Given the description of an element on the screen output the (x, y) to click on. 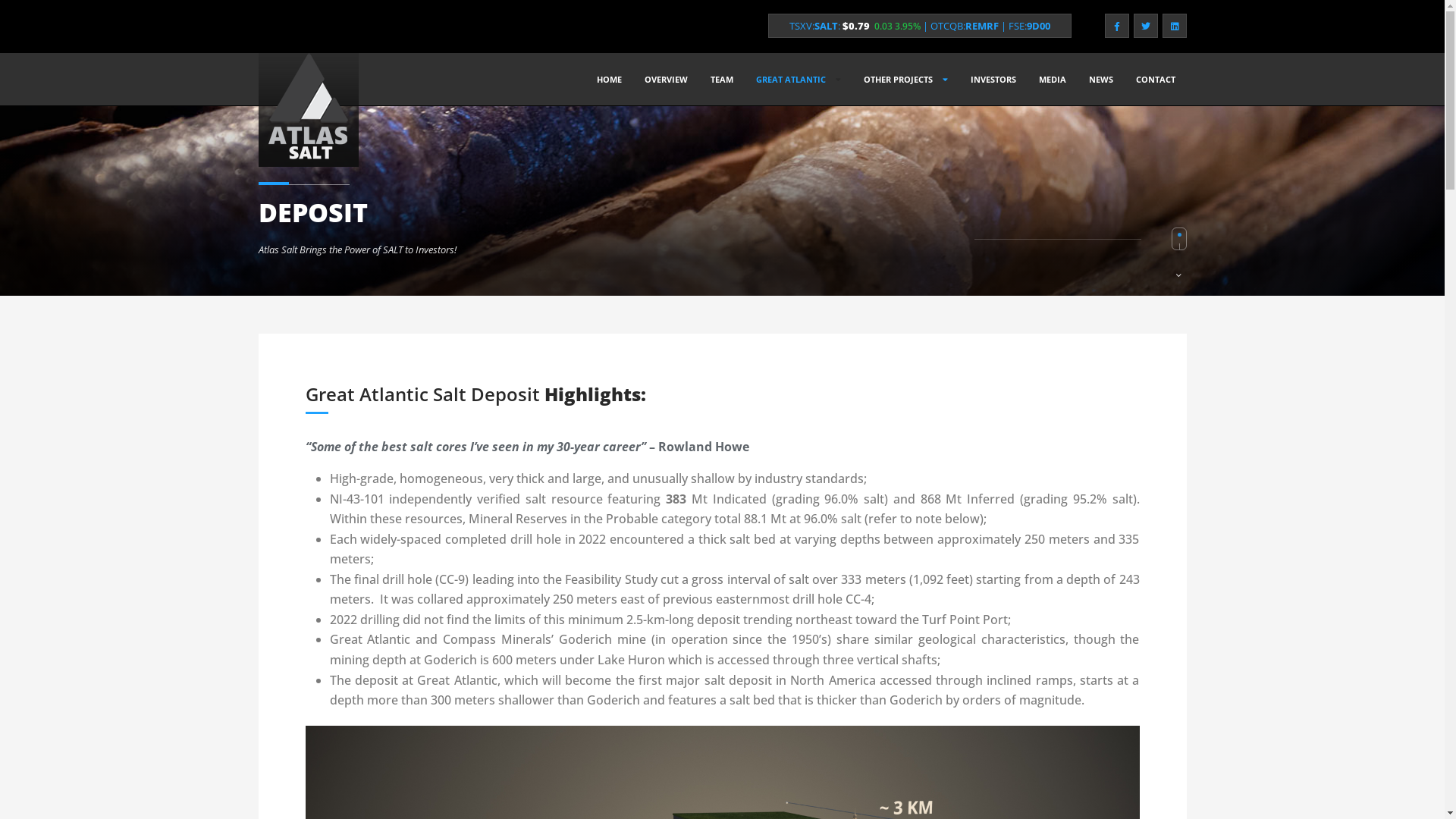
MEDIA Element type: text (1051, 79)
Atlas Unveils Great Atlantic Salt Project Build Team Element type: text (864, 543)
twitter Element type: hover (1144, 25)
INVESTORS Element type: text (992, 79)
OTHER PROJECTS Element type: text (905, 79)
DISCLAIMER & QUALIFIED PERSON Element type: text (819, 784)
linkedin Element type: hover (1173, 25)
GREAT ATLANTIC Element type: text (798, 79)
DOWNLOAD CORPORATE PRESENTATION (PDF) Element type: text (1012, 704)
NEWS Element type: text (1099, 79)
CONTACT Element type: text (1154, 79)
TSXV:SALT: $0.79  0.03 3.95% | OTCQB:REMRF | FSE:9D00 Element type: text (918, 25)
HOME Element type: text (609, 79)
TEAM Element type: text (721, 79)
OVERVIEW Element type: text (665, 79)
facebook Element type: hover (1116, 25)
